Given the description of an element on the screen output the (x, y) to click on. 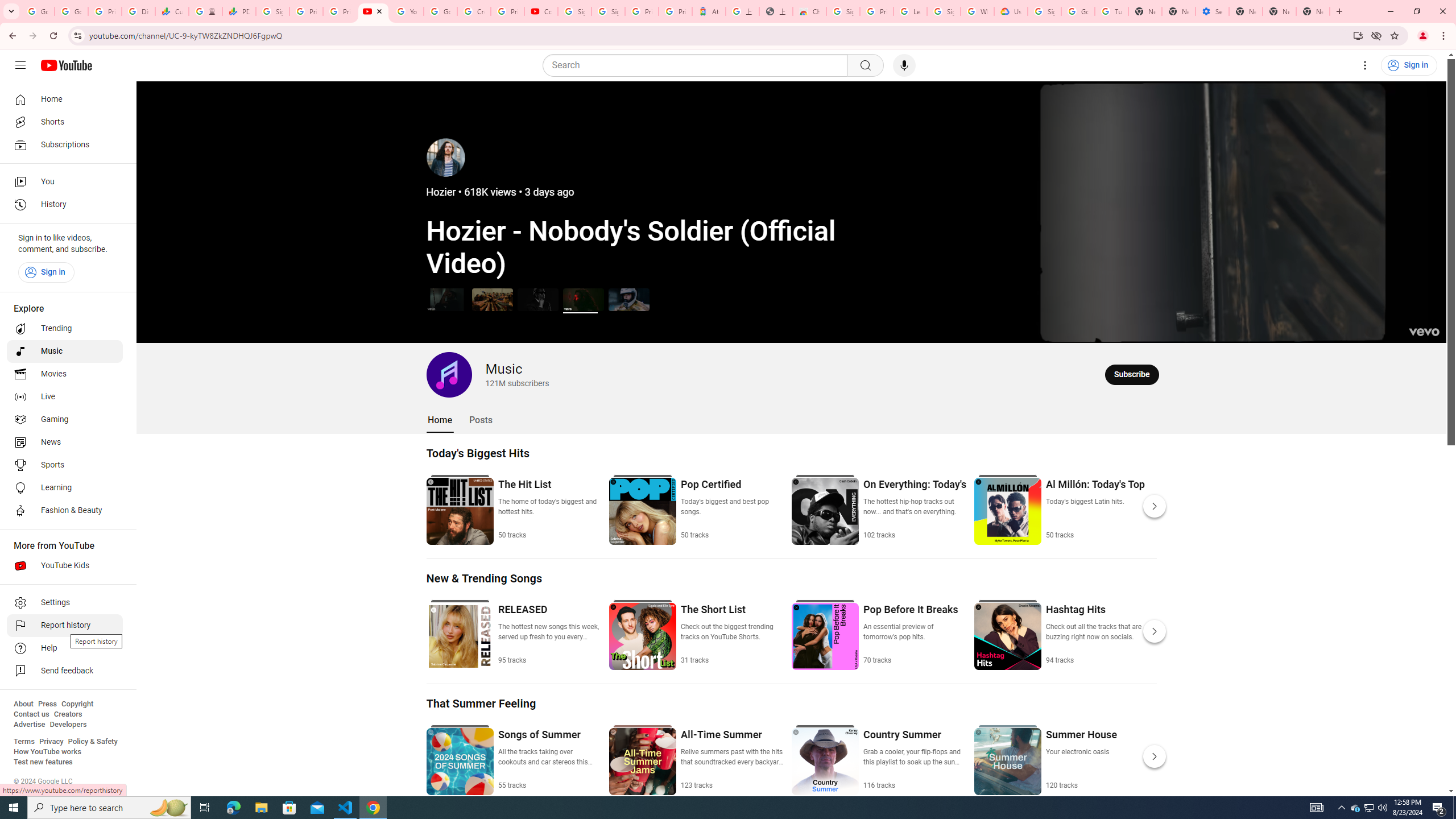
YouTube Kids (64, 565)
Send feedback (64, 671)
New Tab (1246, 11)
Home (440, 420)
Home (64, 99)
Sign in - Google Accounts (842, 11)
Hozier - Nobody's Soldier (Official Video) (583, 299)
Subscriptions (64, 144)
Posts (481, 420)
How YouTube works (47, 751)
